Given the description of an element on the screen output the (x, y) to click on. 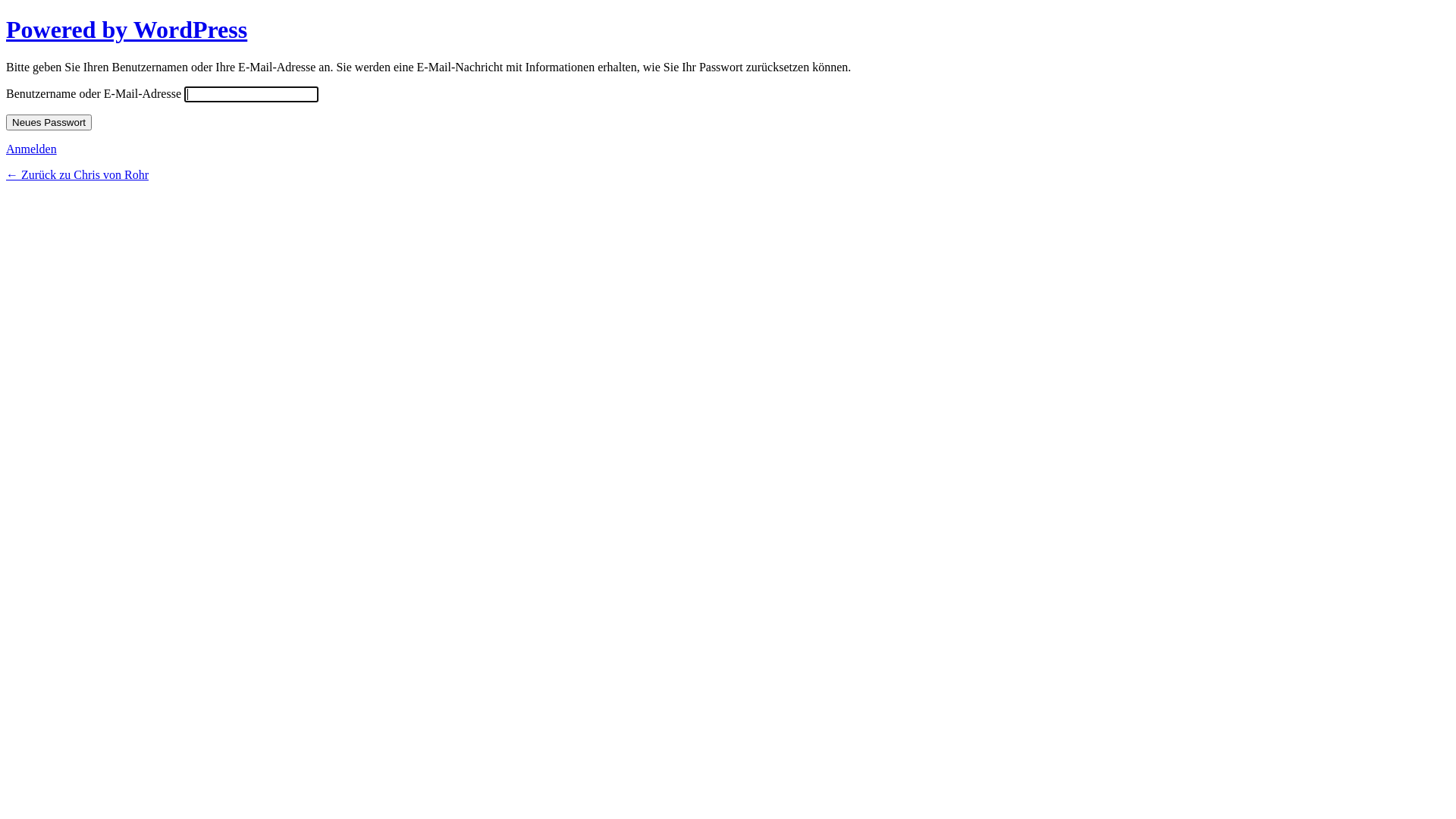
Neues Passwort Element type: text (48, 122)
Powered by WordPress Element type: text (126, 29)
Anmelden Element type: text (31, 148)
